Given the description of an element on the screen output the (x, y) to click on. 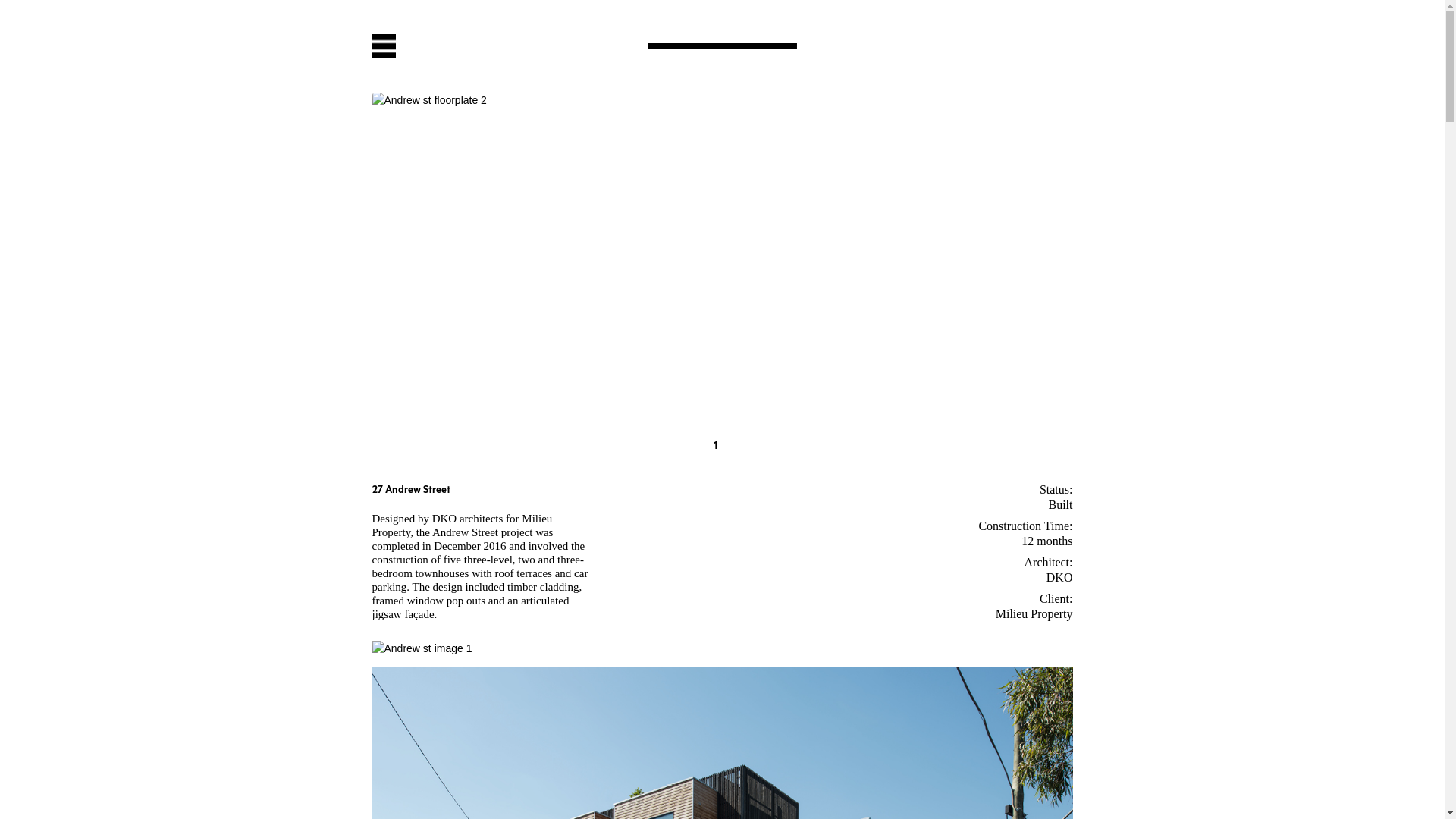
1 Element type: text (715, 447)
2 Element type: text (728, 447)
3 Element type: text (743, 447)
G Element type: text (700, 447)
